Given the description of an element on the screen output the (x, y) to click on. 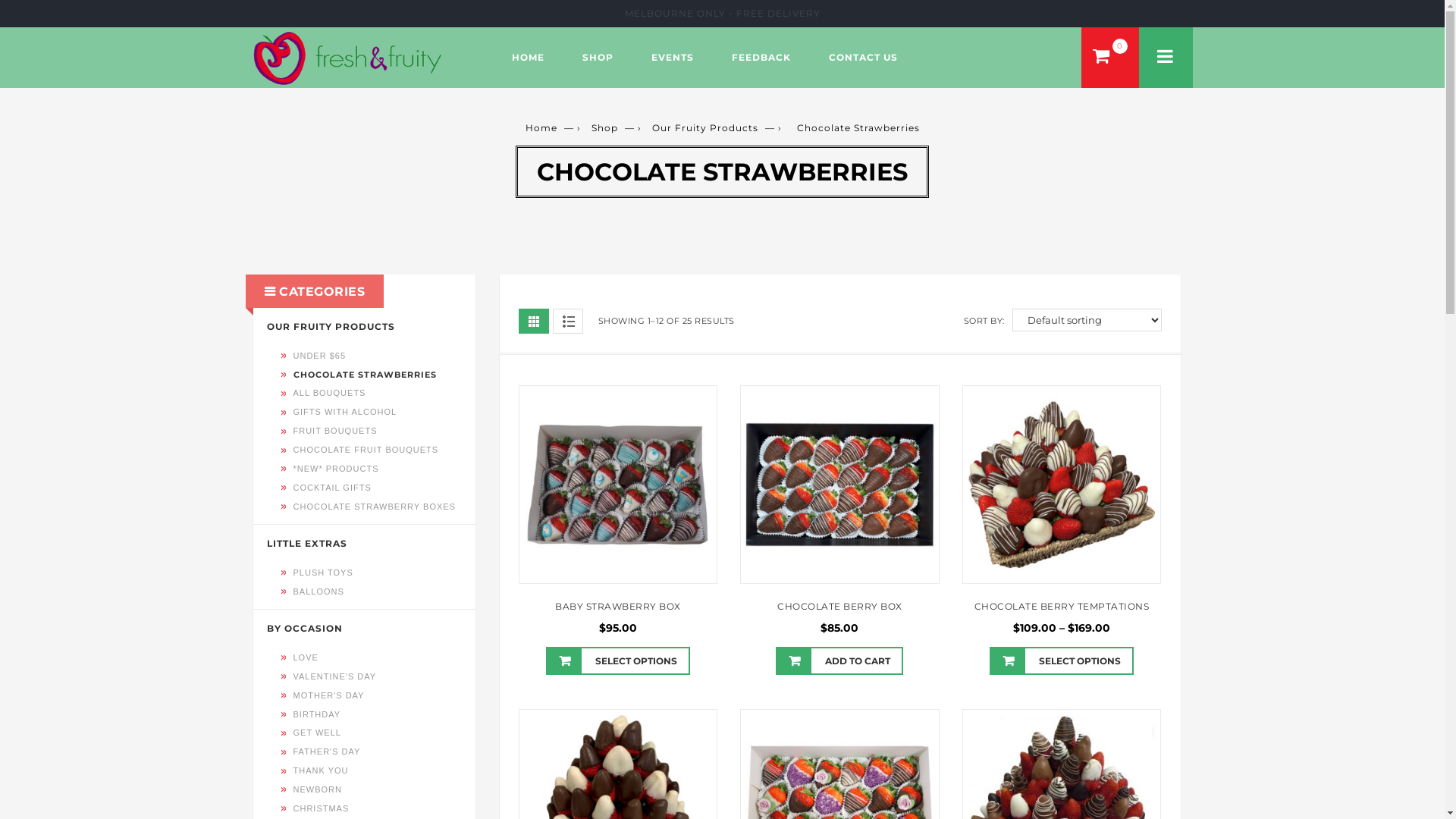
CHOCOLATE STRAWBERRIES Element type: text (365, 374)
List Element type: hover (567, 320)
VALENTINE'S DAY Element type: text (335, 676)
GET WELL Element type: text (317, 732)
clicker: Element type: hover (1165, 57)
BABY STRAWBERRY BOX Element type: text (617, 605)
*NEW* PRODUCTS Element type: text (336, 468)
BIRTHDAY Element type: text (317, 714)
OUR FRUITY PRODUCTS Element type: text (330, 326)
CHOCOLATE STRAWBERRY BOXES Element type: text (374, 506)
LOVE Element type: text (305, 657)
COCKTAIL GIFTS Element type: text (332, 487)
FATHER'S DAY Element type: text (327, 751)
FRUIT BOUQUETS Element type: text (335, 431)
CHOCOLATE FRUIT BOUQUETS Element type: text (366, 450)
CHOCOLATE BERRY TEMPTATIONS Element type: text (1061, 605)
CHRISTMAS Element type: text (321, 808)
HOME Element type: text (527, 57)
SHOP Element type: text (597, 57)
0 Element type: text (1110, 57)
GIFTS WITH ALCOHOL Element type: text (345, 412)
FEEDBACK Element type: text (761, 57)
BALLOONS Element type: text (318, 591)
CONTACT US Element type: text (863, 57)
CHOCOLATE BERRY BOX Element type: text (839, 605)
Fresh & Fruity Element type: hover (346, 57)
ADD TO CART Element type: text (839, 660)
ALL BOUQUETS Element type: text (329, 393)
LITTLE EXTRAS Element type: text (306, 543)
NEWBORN Element type: text (317, 789)
MOTHER'S DAY Element type: text (329, 695)
THANK YOU Element type: text (321, 770)
Shop Element type: text (604, 127)
SELECT OPTIONS Element type: text (1061, 660)
PLUSH TOYS Element type: text (323, 572)
UNDER $65 Element type: text (319, 356)
EVENTS Element type: text (672, 57)
Our Fruity Products Element type: text (705, 127)
Home Element type: text (540, 127)
BY OCCASION Element type: text (304, 628)
SELECT OPTIONS Element type: text (618, 660)
